Given the description of an element on the screen output the (x, y) to click on. 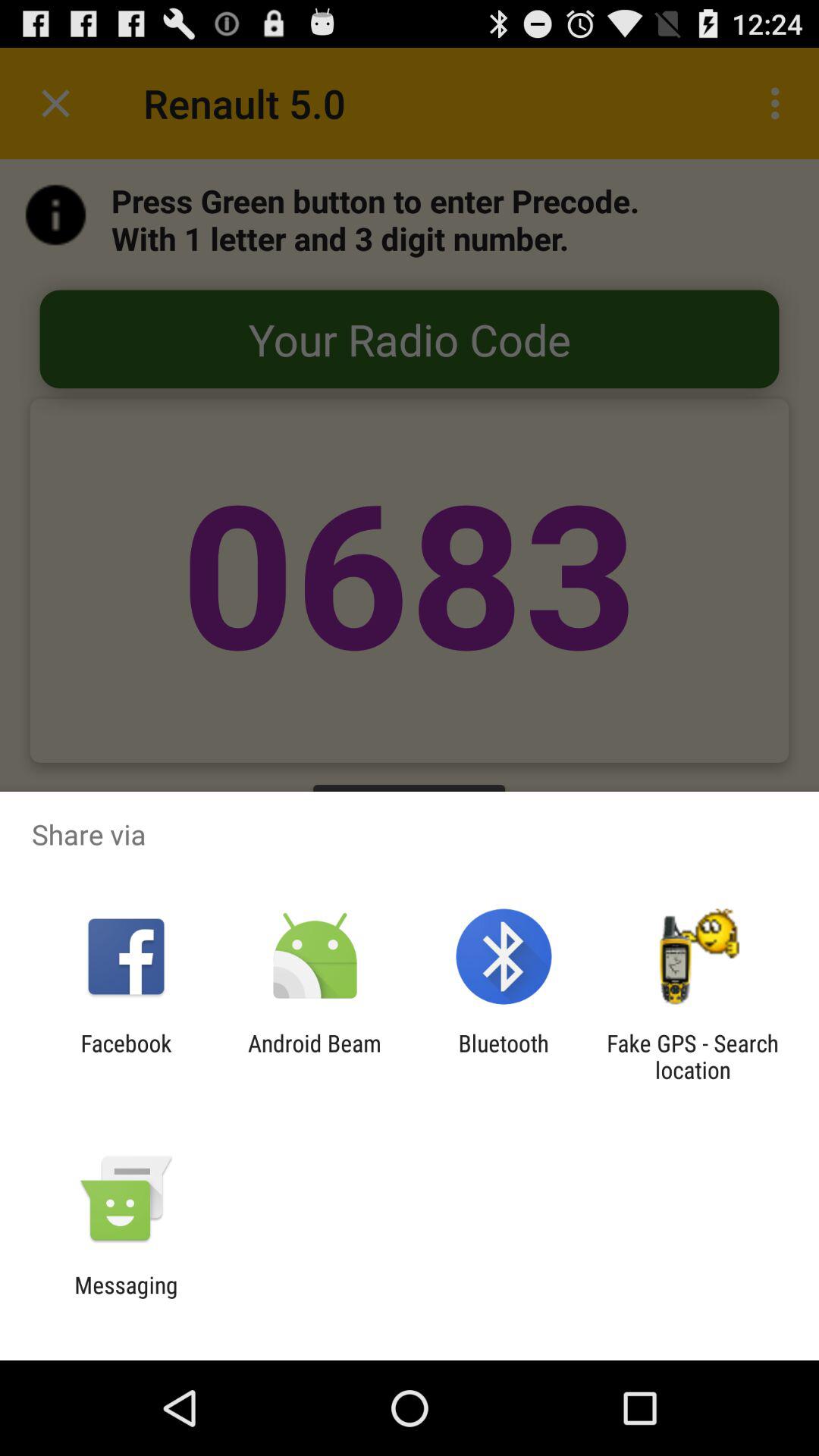
turn on the icon to the right of the android beam icon (503, 1056)
